Given the description of an element on the screen output the (x, y) to click on. 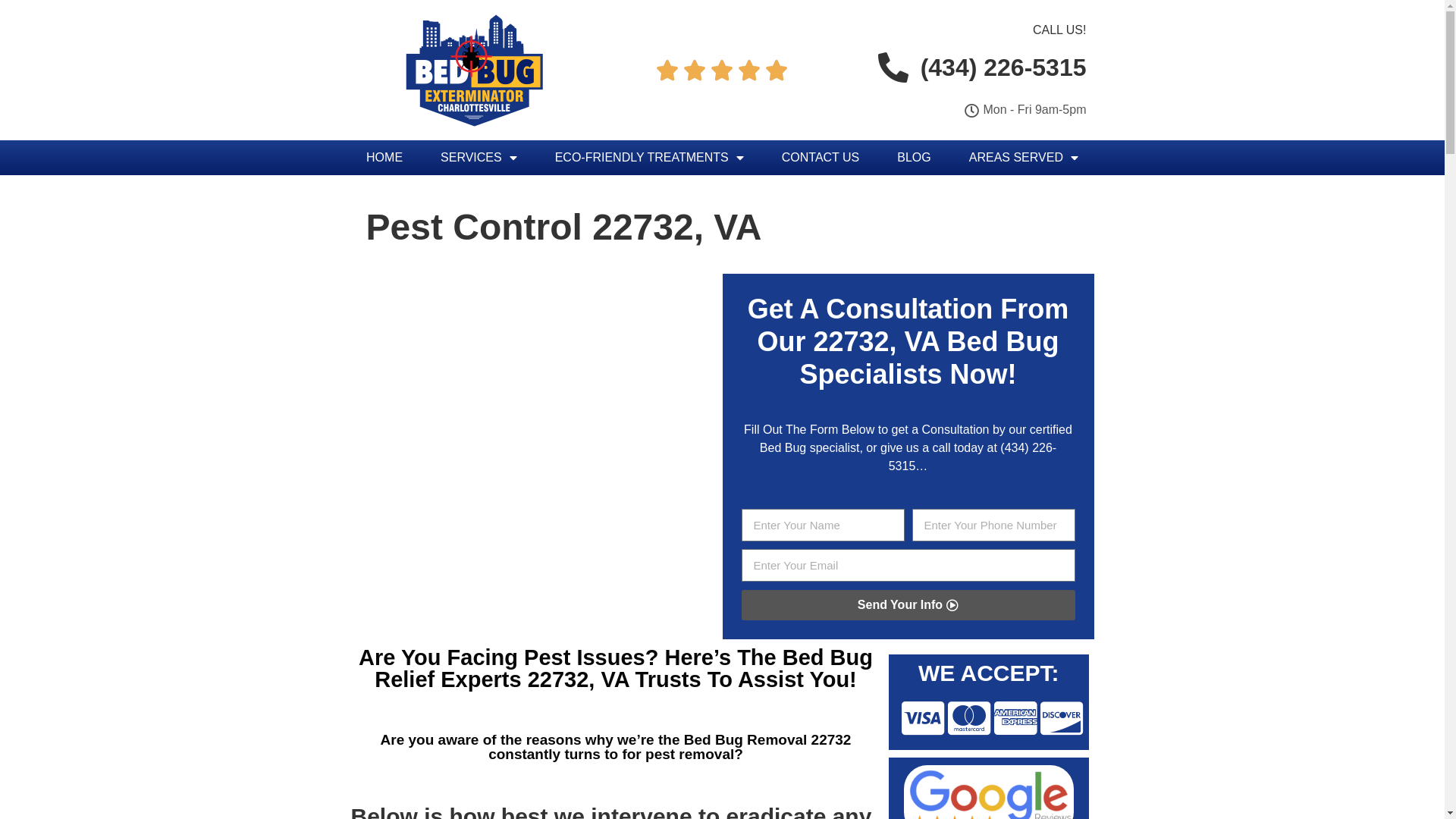
CONTACT US Element type: text (820, 157)
(434) 226-5315 Element type: text (972, 456)
22732, VA Element type: text (871, 341)
AREAS SERVED Element type: text (1023, 157)
Send Your Info Element type: text (908, 604)
Bed Bug Removal 22732 Element type: text (767, 739)
ECO-FRIENDLY TREATMENTS Element type: text (649, 157)
SERVICES Element type: text (478, 157)
BLOG Element type: text (913, 157)
HOME Element type: text (384, 157)
(434) 226-5315 Element type: text (978, 67)
